Given the description of an element on the screen output the (x, y) to click on. 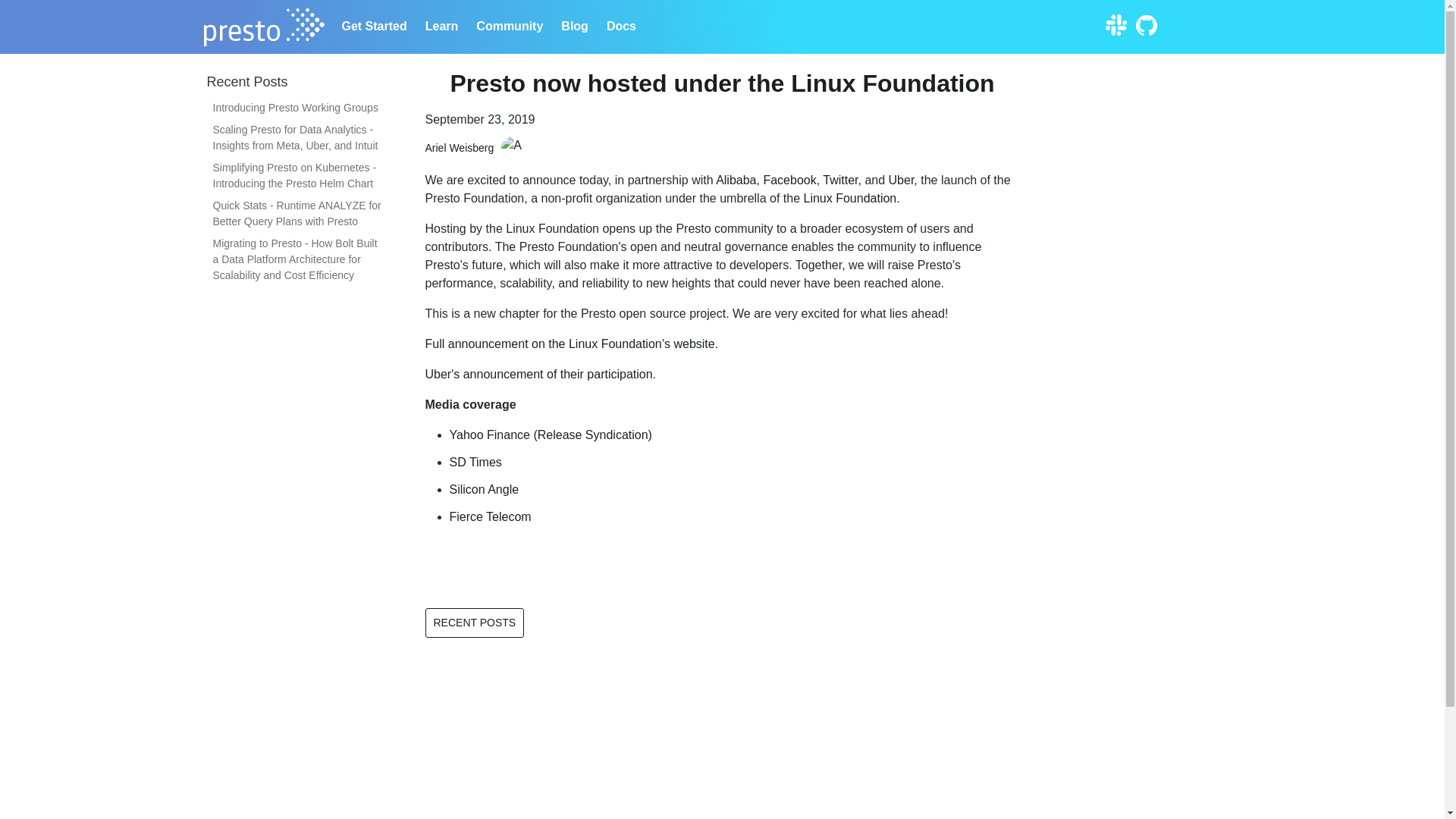
SD Times (474, 461)
RECENT POSTS (474, 623)
Docs (620, 25)
Alibaba (735, 179)
Linux Foundation (849, 197)
GitHub (1145, 24)
Learn (441, 25)
Community (509, 25)
Slack (1114, 24)
LinkedIn (1236, 24)
Silicon Angle (483, 489)
Twitter (839, 179)
Fierce Telecom (489, 516)
